Given the description of an element on the screen output the (x, y) to click on. 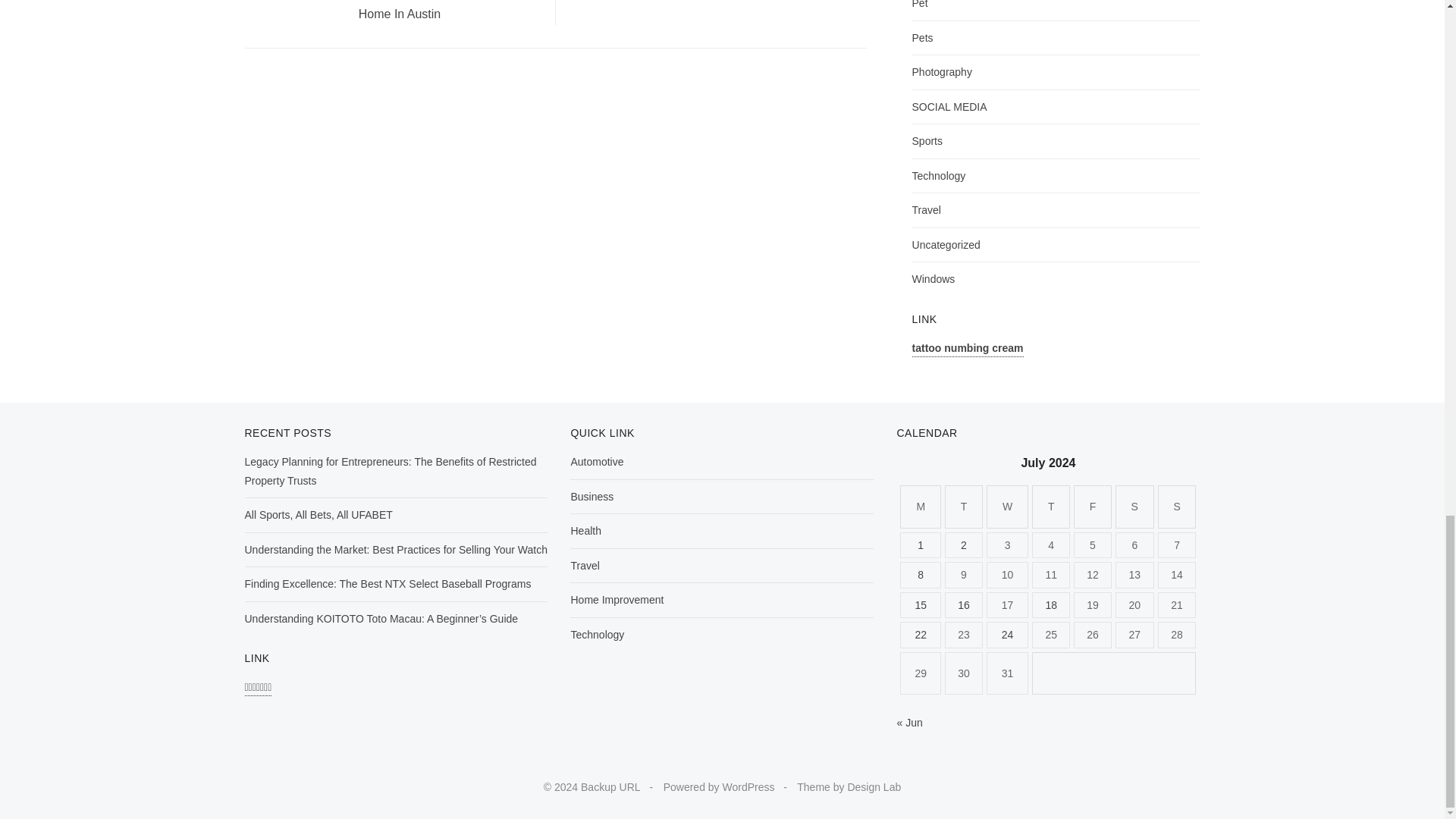
Wednesday (1008, 506)
Sunday (1176, 506)
Monday (919, 506)
Saturday (1134, 506)
